Given the description of an element on the screen output the (x, y) to click on. 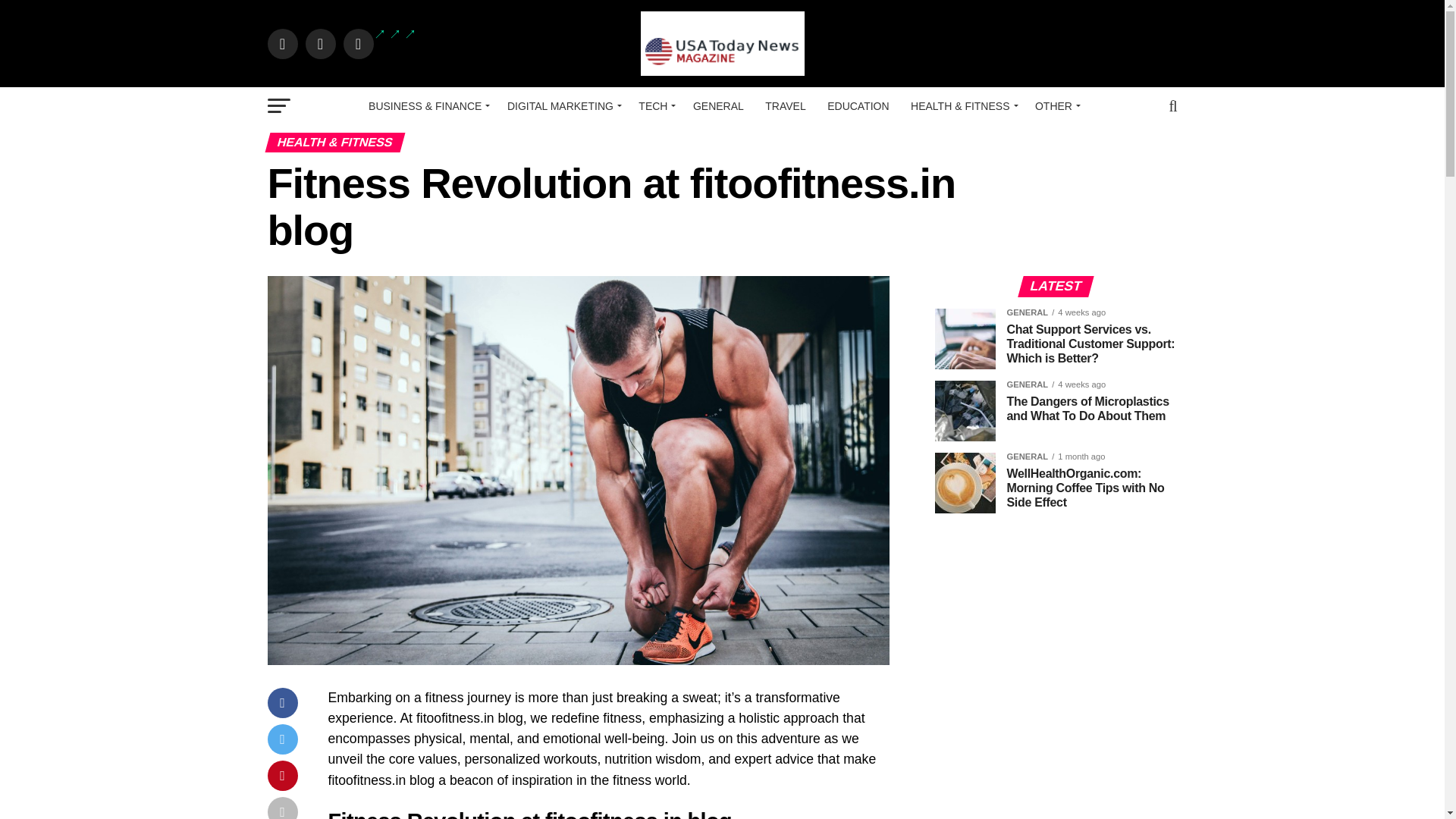
EDUCATION (858, 105)
DIGITAL MARKETING (561, 105)
TRAVEL (784, 105)
GENERAL (718, 105)
TECH (653, 105)
OTHER (1055, 105)
